Given the description of an element on the screen output the (x, y) to click on. 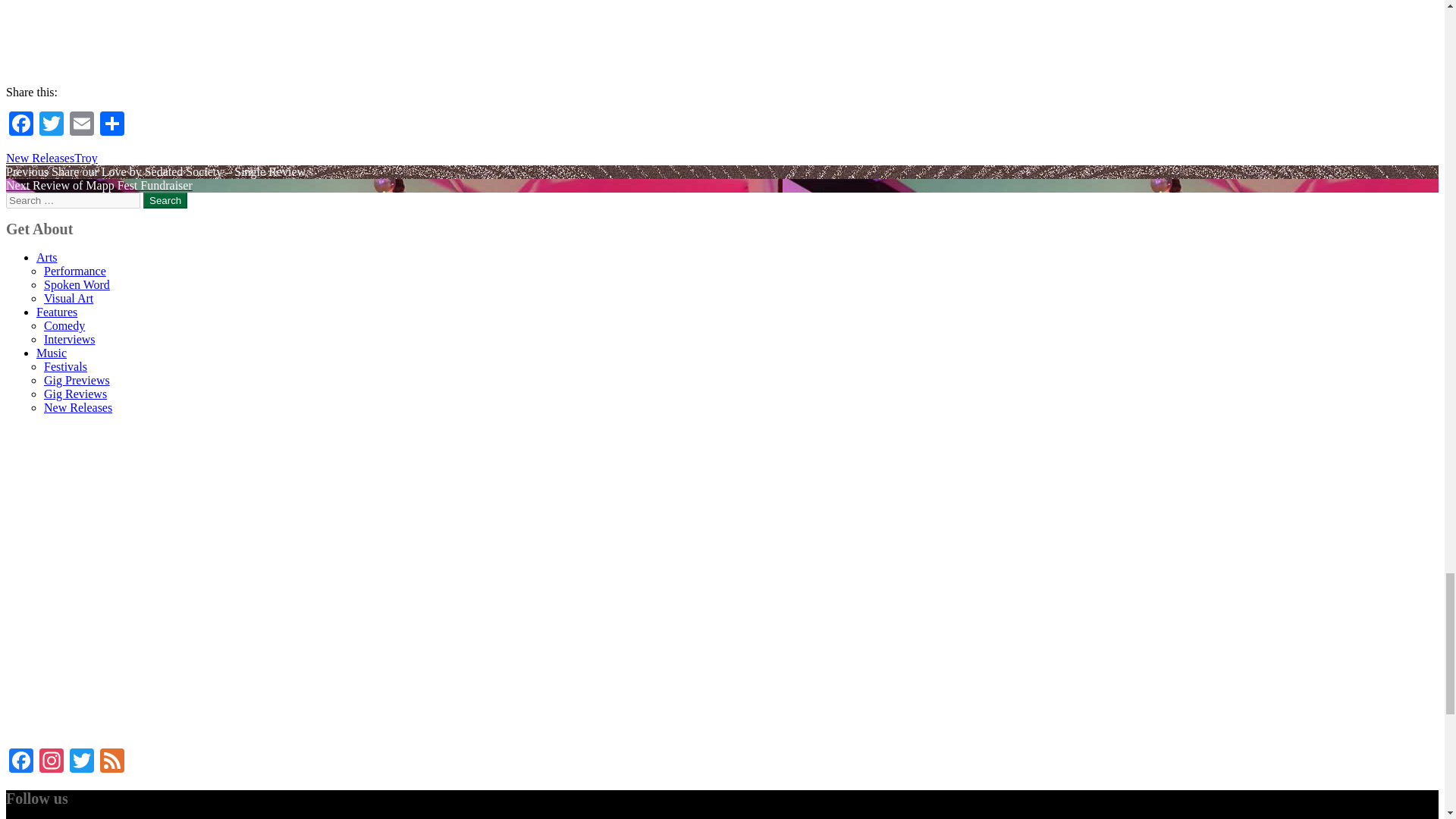
Twitter (51, 125)
Search (164, 200)
Twitter (81, 762)
RSS Feed (112, 762)
Instagram (51, 762)
Email (81, 125)
Facebook (20, 762)
Search (164, 200)
Facebook (20, 125)
